Given the description of an element on the screen output the (x, y) to click on. 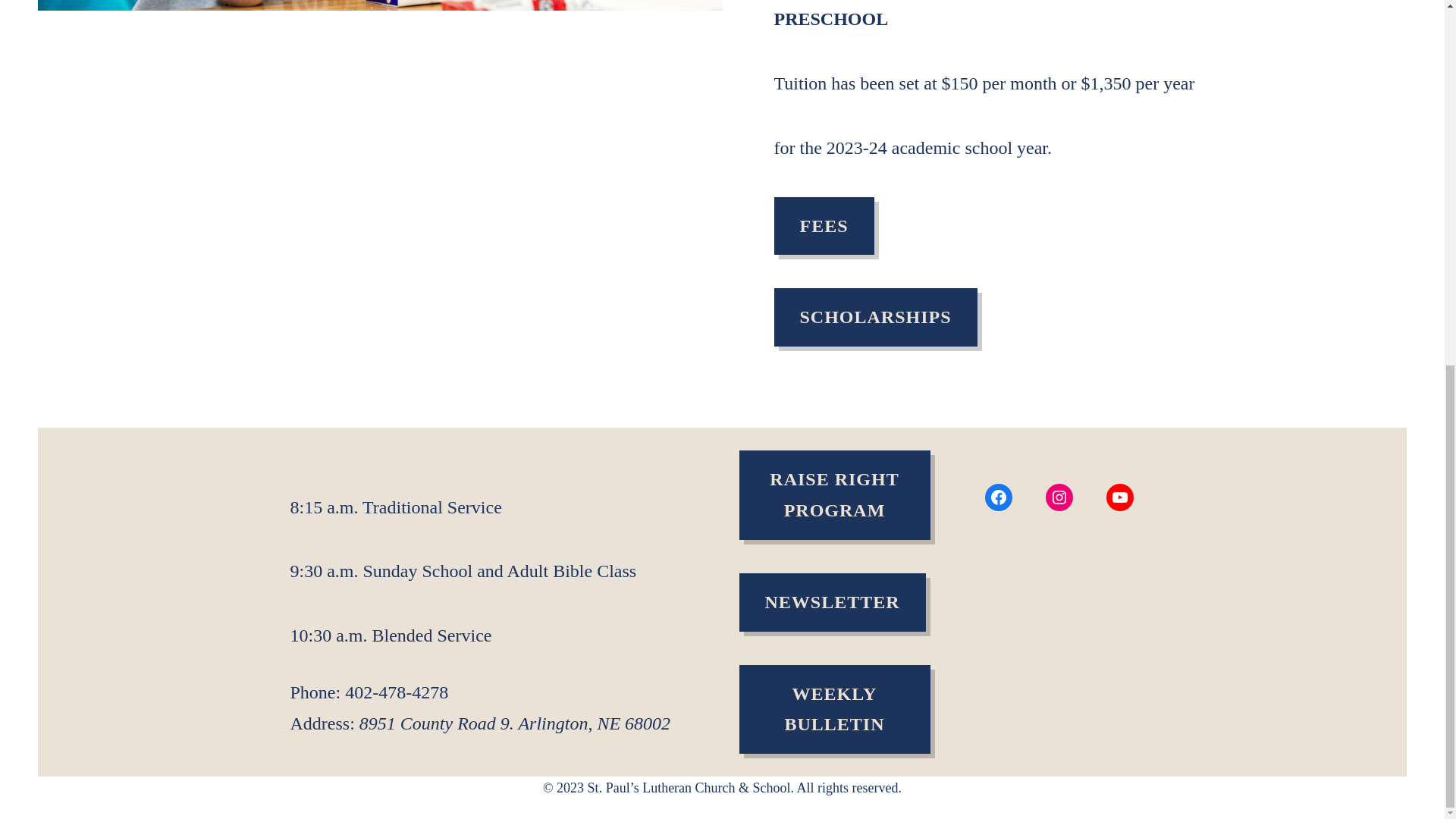
NEWSLETTER (831, 602)
WEEKLY BULLETIN (834, 709)
Facebook (997, 497)
YouTube (1118, 497)
FEES (823, 226)
RAISE RIGHT PROGRAM (834, 494)
SCHOLARSHIPS (874, 317)
Instagram (1058, 497)
